Given the description of an element on the screen output the (x, y) to click on. 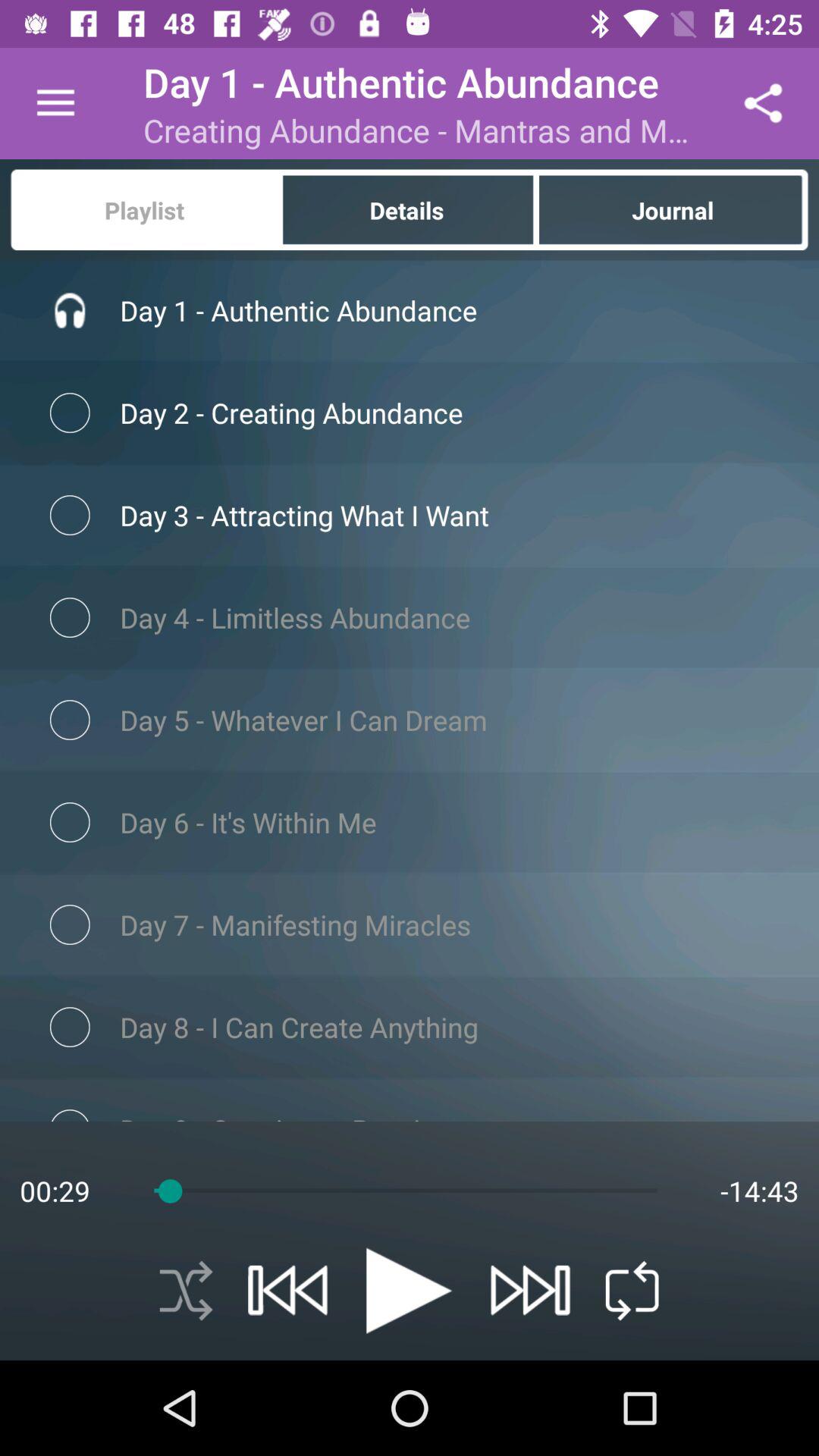
flip until playlist item (143, 209)
